Given the description of an element on the screen output the (x, y) to click on. 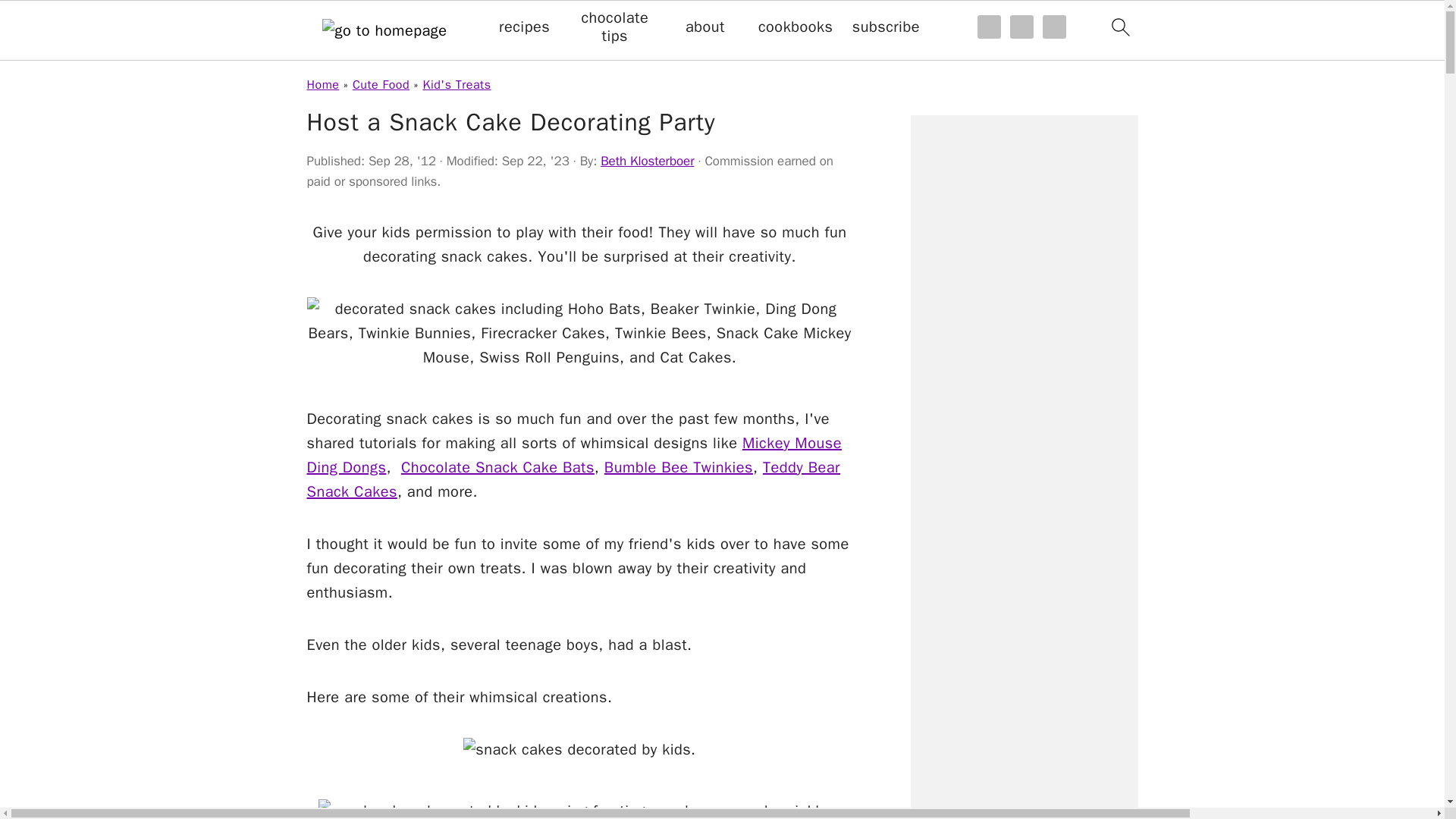
search icon (1119, 26)
